Given the description of an element on the screen output the (x, y) to click on. 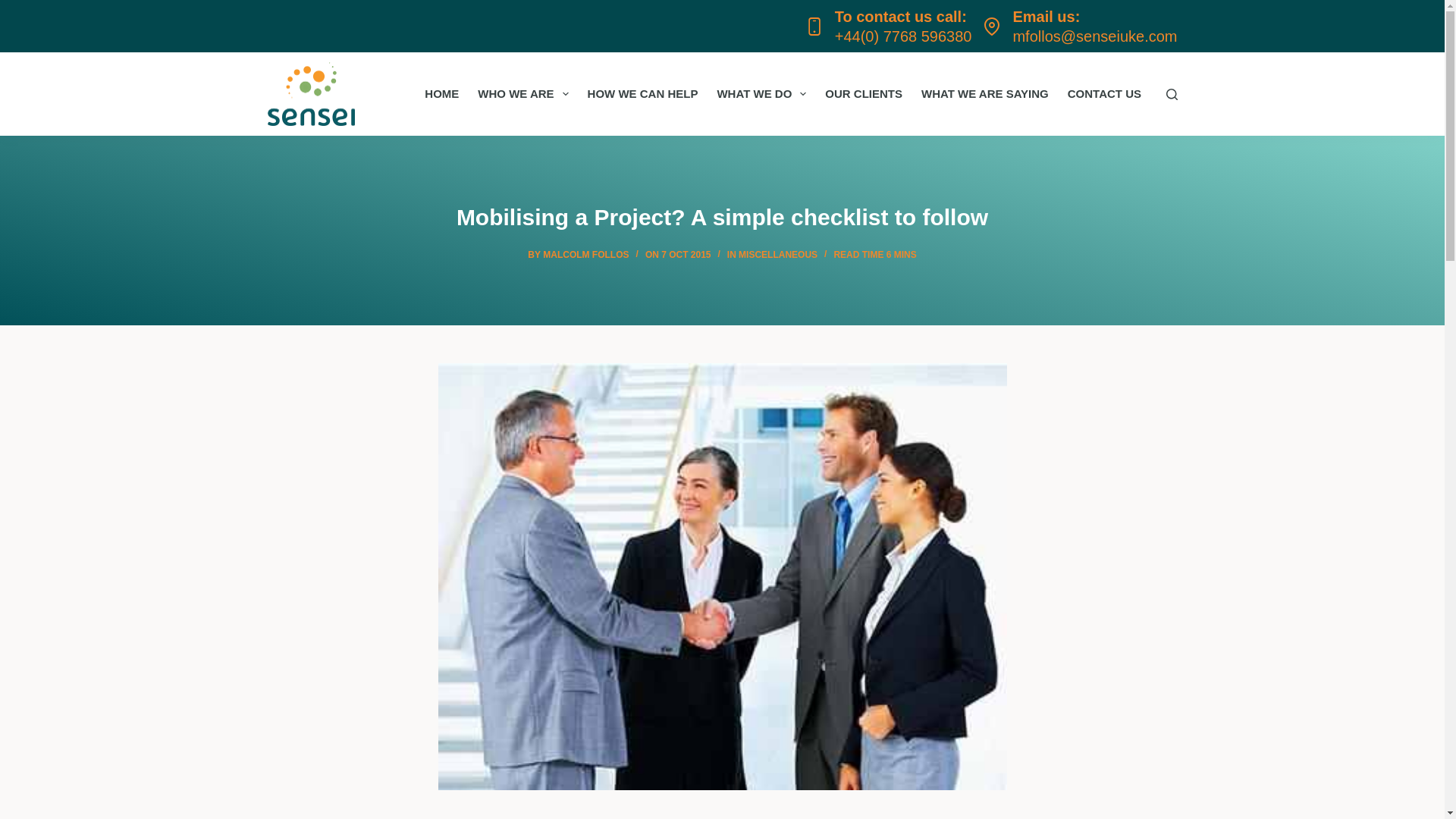
Mobilising a Project? A simple checklist to follow (722, 216)
Posts by Malcolm Follos (585, 254)
Skip to content (15, 7)
